Given the description of an element on the screen output the (x, y) to click on. 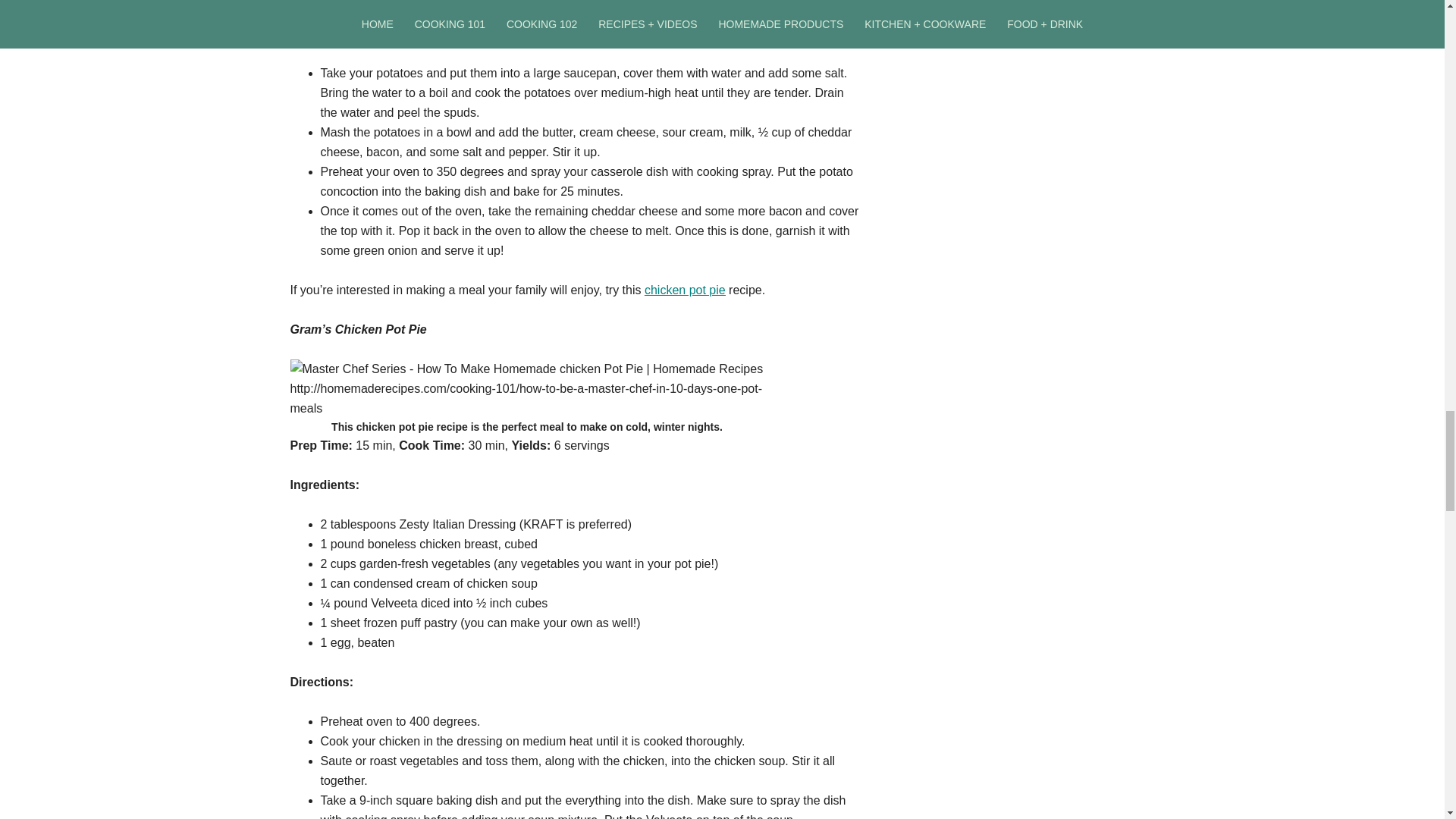
Cooking for Beginners - How To Make Homemade Chicken Pot Pie (525, 388)
